Given the description of an element on the screen output the (x, y) to click on. 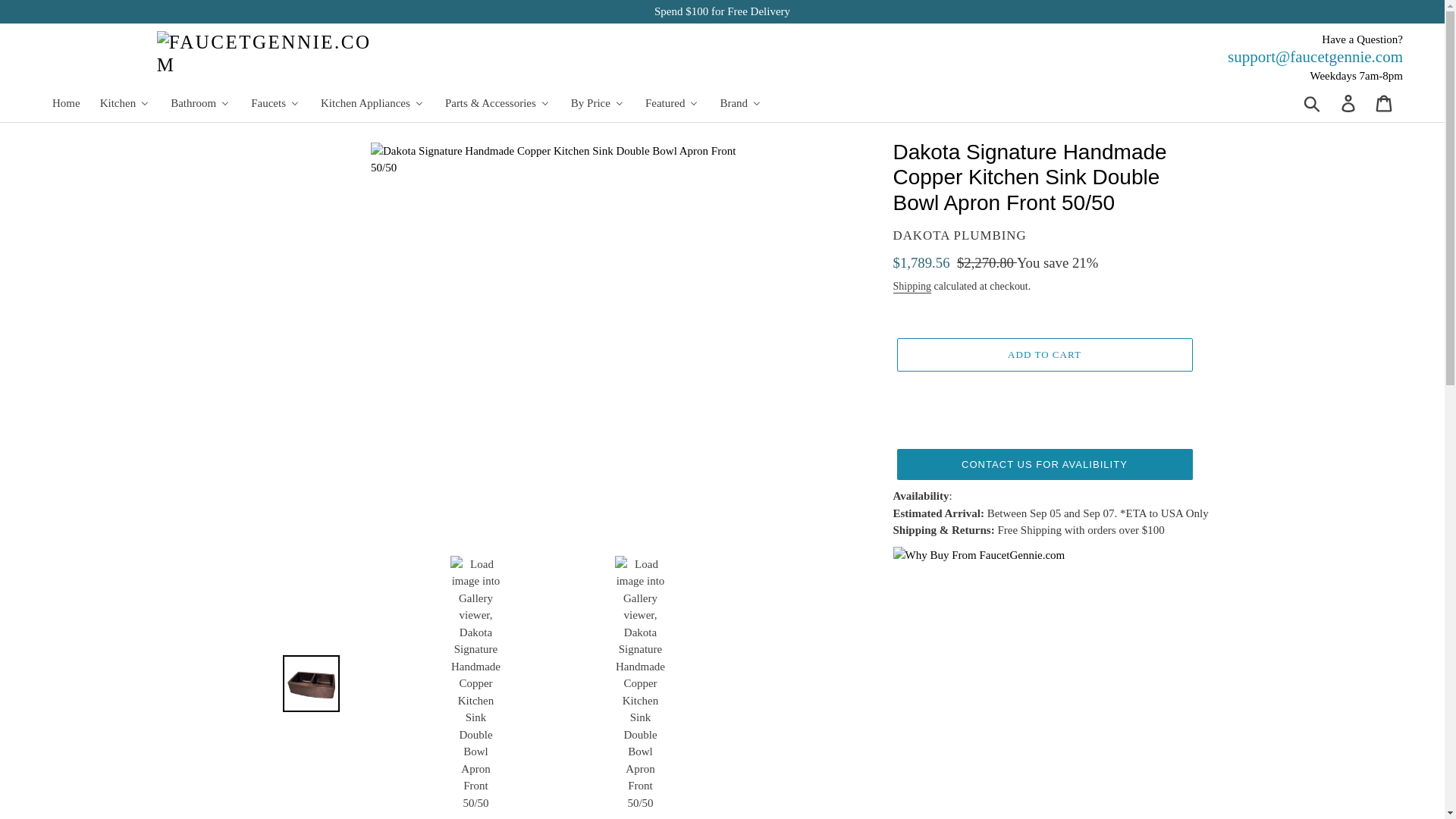
Kitchen (124, 102)
Home (65, 102)
Bathroom (200, 102)
